Given the description of an element on the screen output the (x, y) to click on. 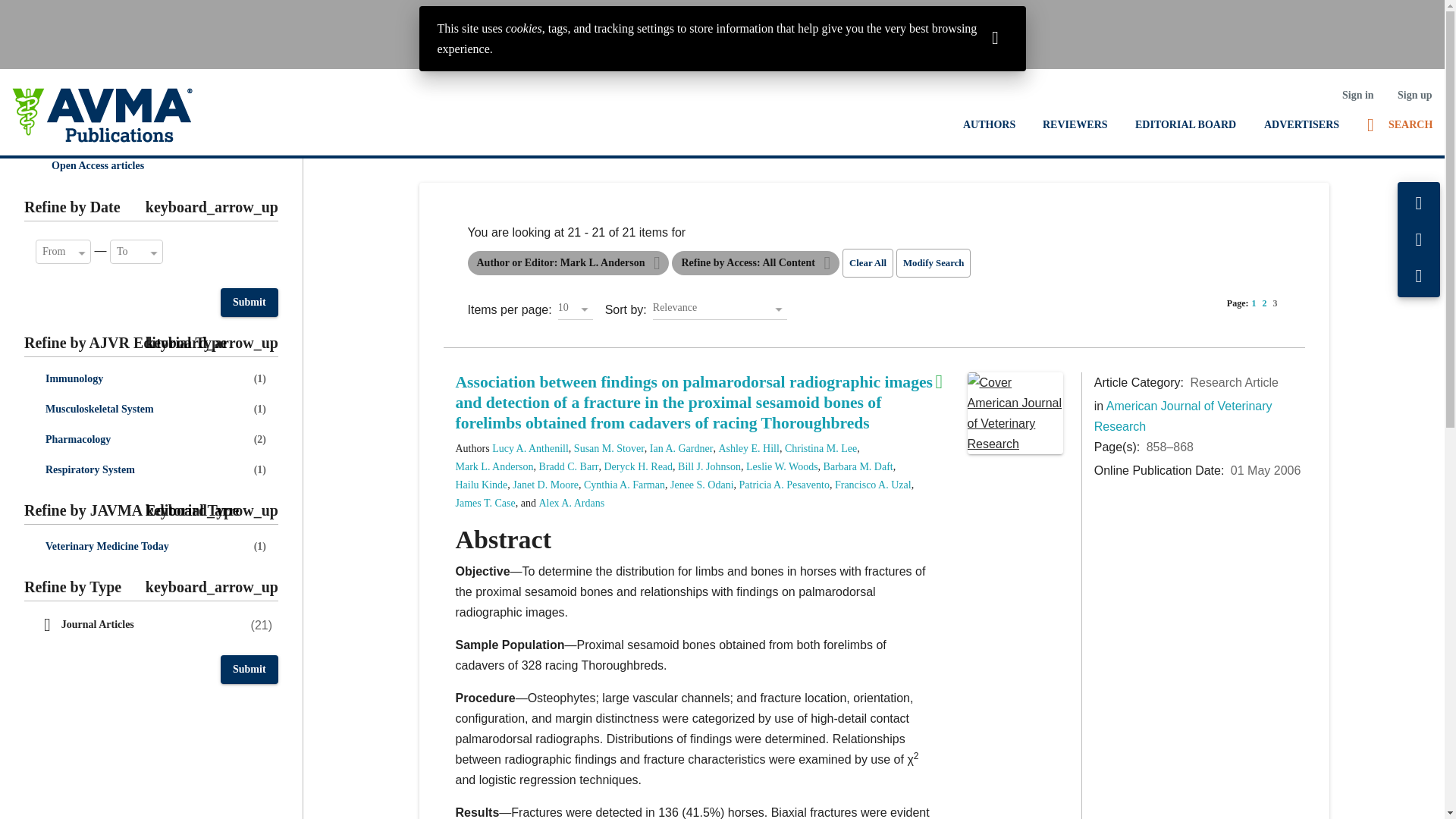
Dismiss this warning (994, 37)
Sign in (1358, 95)
AUTHORS (988, 124)
Jump to Content (45, 11)
